Given the description of an element on the screen output the (x, y) to click on. 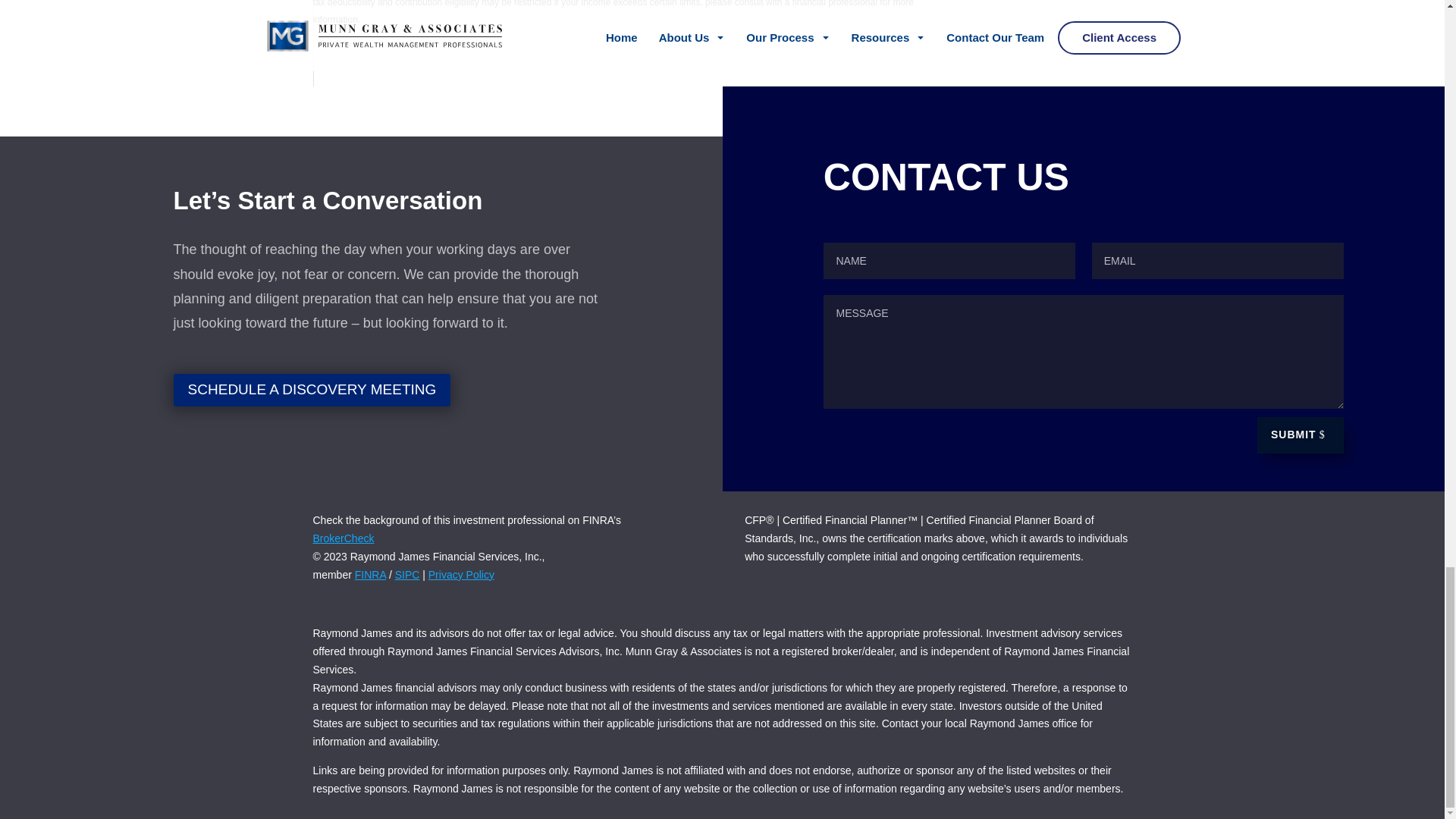
FINRA (370, 574)
SCHEDULE A DISCOVERY MEETING (312, 390)
SIPC (407, 574)
Privacy Policy (461, 574)
BrokerCheck (343, 538)
SUBMIT (1299, 434)
